Given the description of an element on the screen output the (x, y) to click on. 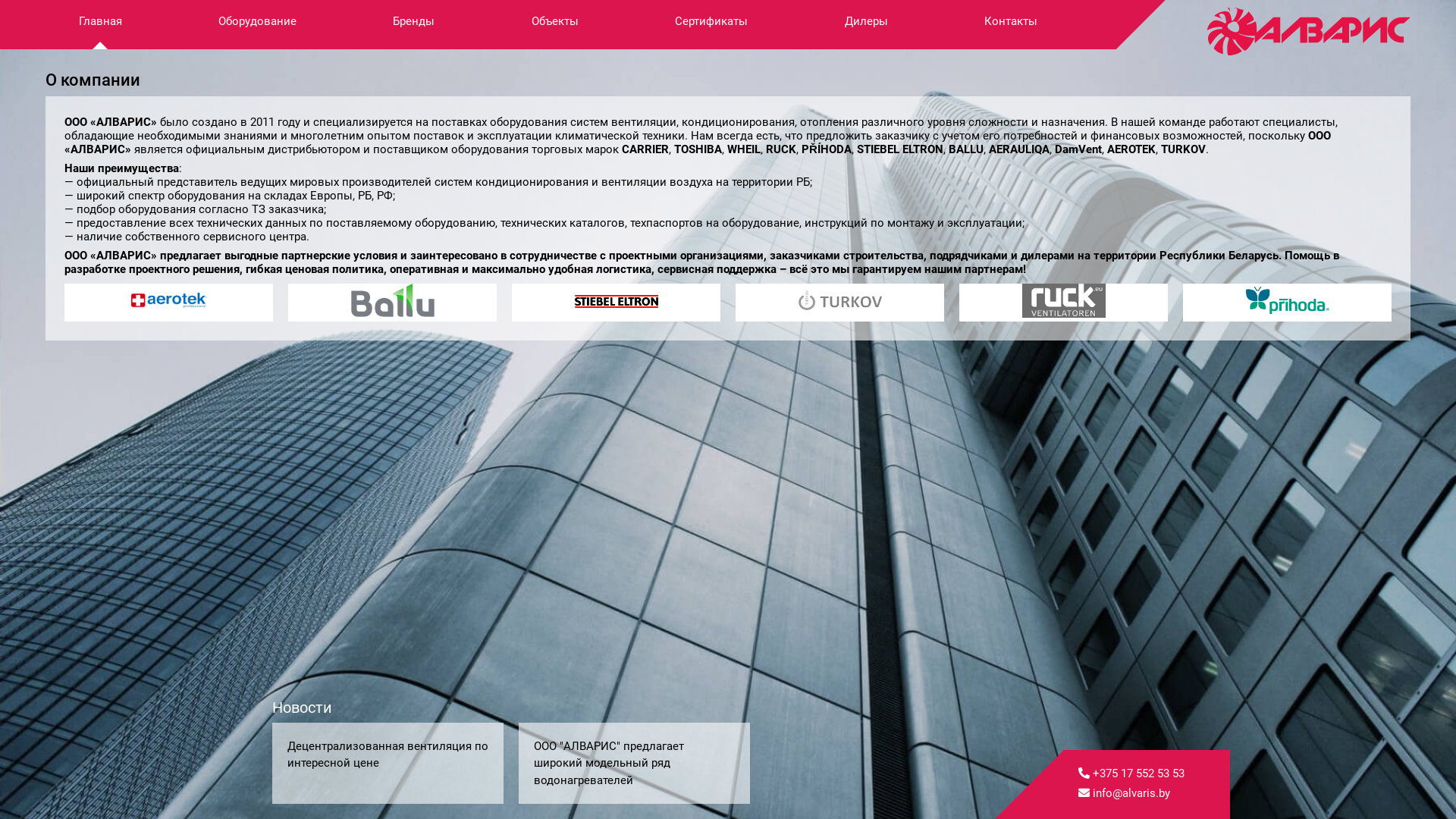
+375 17 552 53 53 Element type: text (1146, 773)
info@alvaris.by Element type: text (1146, 792)
